Given the description of an element on the screen output the (x, y) to click on. 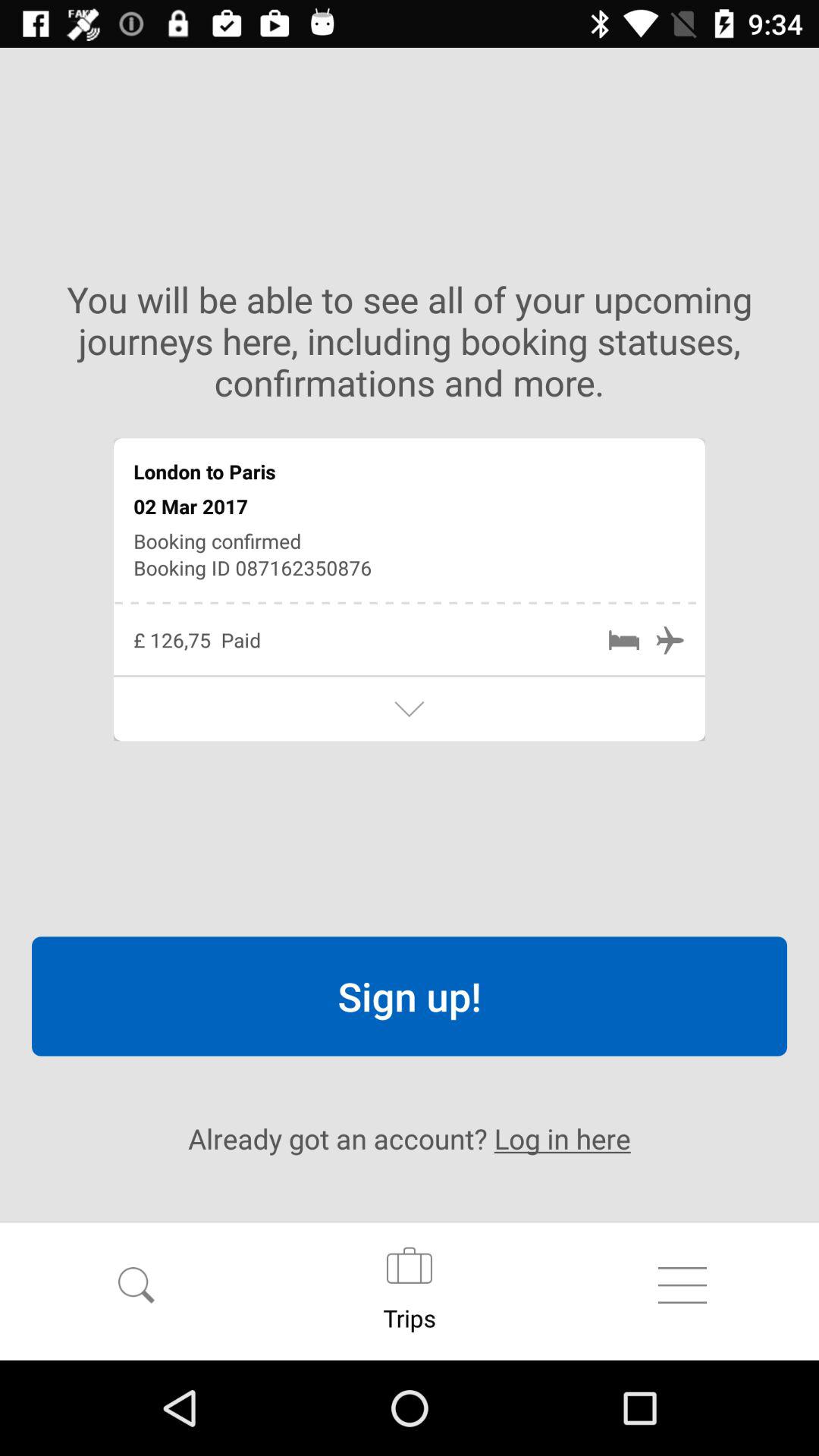
open sign up! item (409, 996)
